Given the description of an element on the screen output the (x, y) to click on. 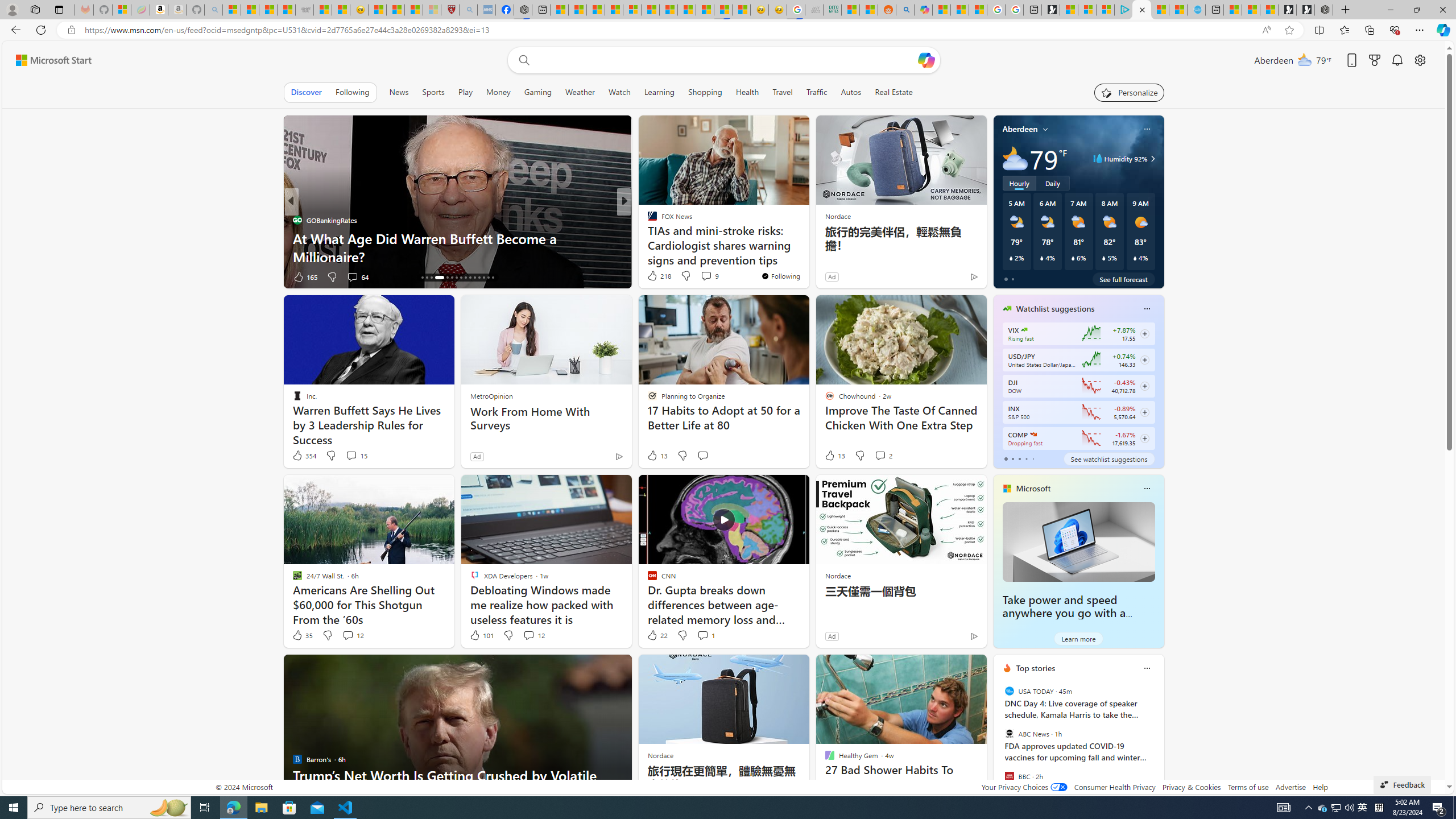
Aberdeen (1019, 128)
AutomationID: tab-24 (465, 277)
12 Popular Science Lies that Must be Corrected - Sleeping (431, 9)
See watchlist suggestions (1108, 459)
previous (998, 741)
MetroOpinion (491, 395)
The Mirror US (647, 219)
